Given the description of an element on the screen output the (x, y) to click on. 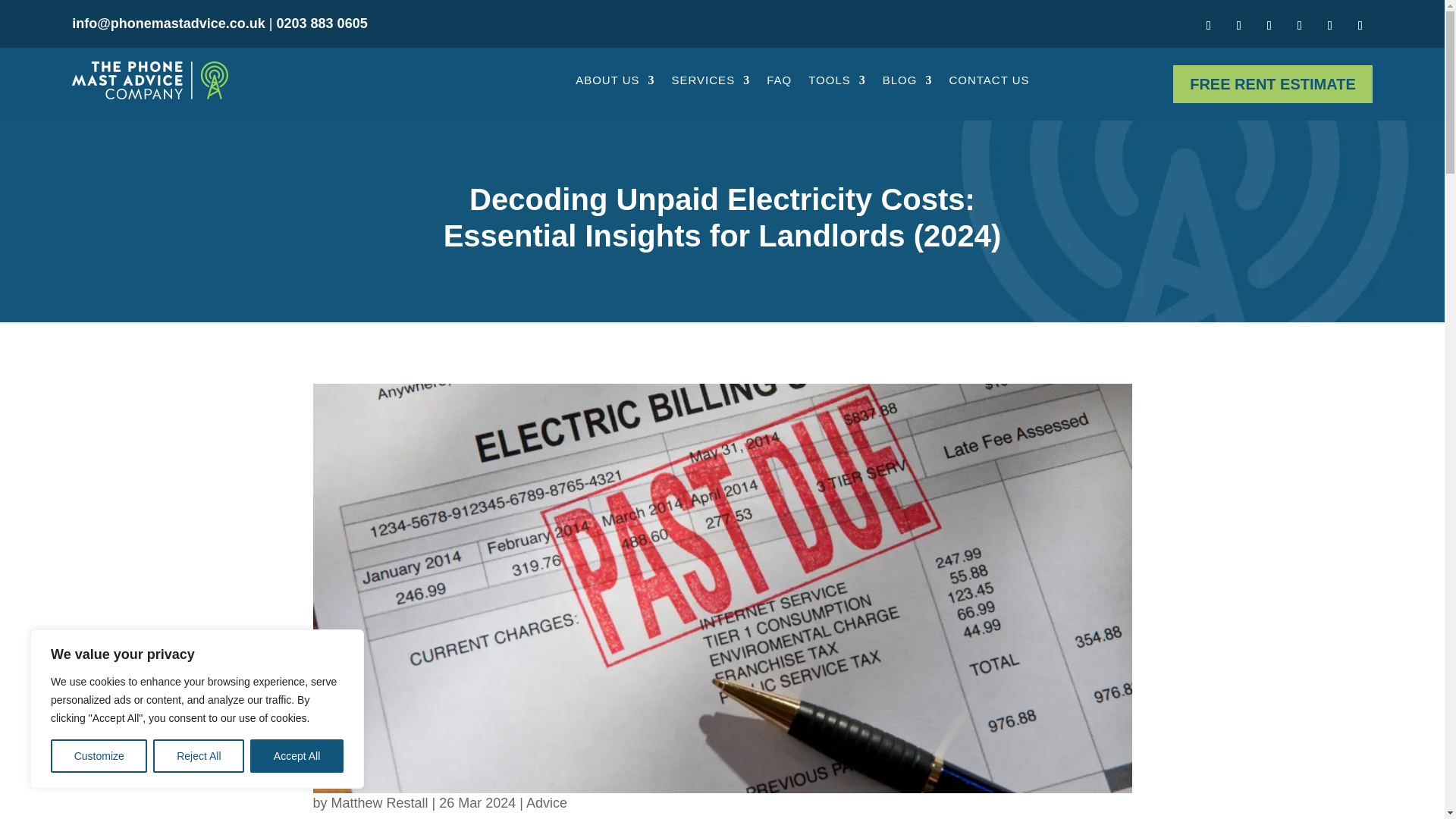
0203 883 0605 (322, 23)
Follow on TikTok (1329, 25)
Posts by Matthew Restall (379, 802)
Email Us (167, 23)
Call us (322, 23)
Follow on LinkedIn (1208, 25)
Follow on Facebook (1238, 25)
Customize (98, 756)
TOOLS (837, 79)
Reject All (198, 756)
Follow on Instagram (1269, 25)
Follow on X (1360, 25)
Accept All (296, 756)
Follow on Youtube (1299, 25)
